Given the description of an element on the screen output the (x, y) to click on. 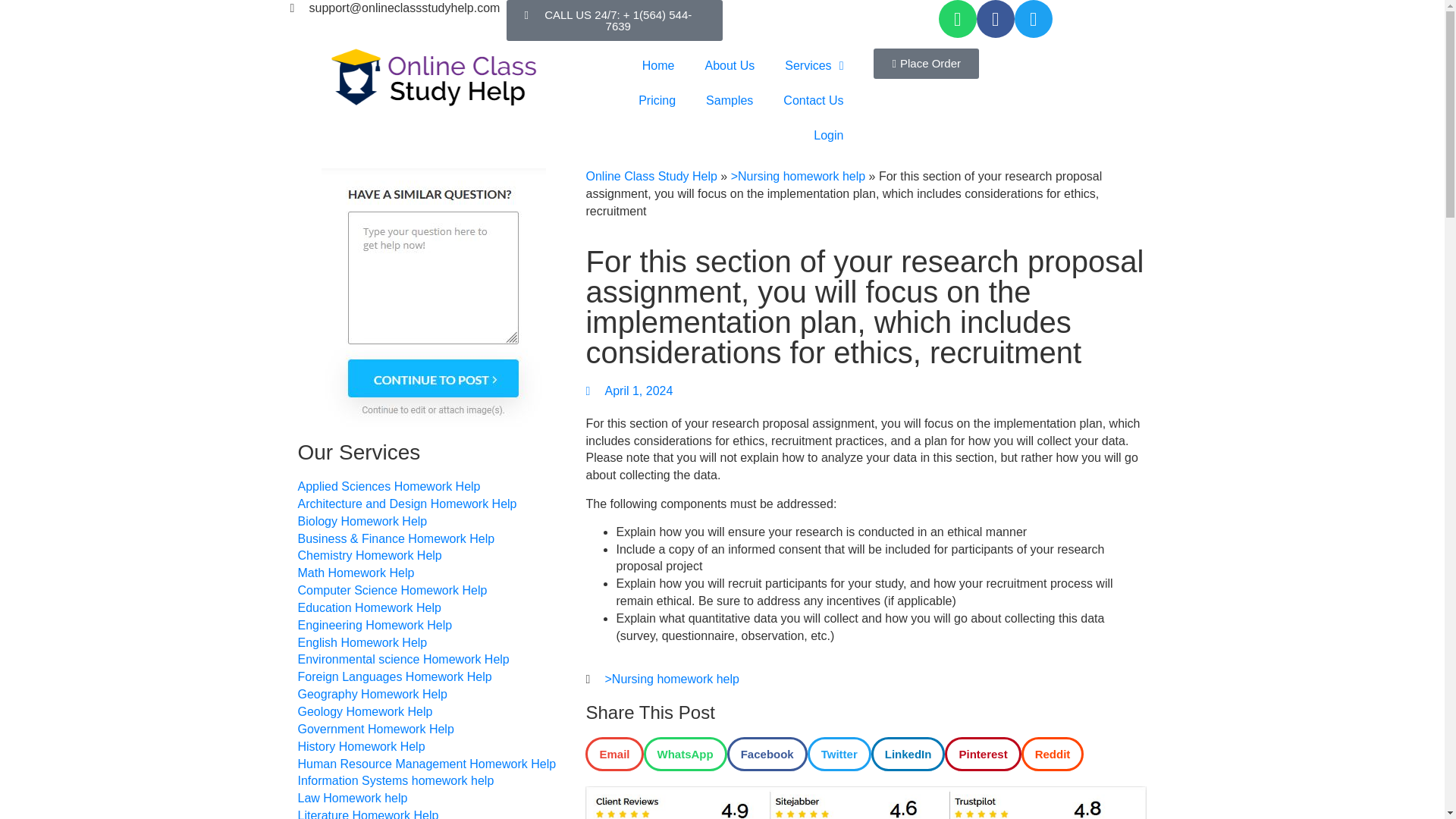
Services (814, 65)
English Homework Help (361, 642)
Home (658, 65)
Pricing (656, 100)
Place Order (925, 63)
Applied Sciences Homework Help (388, 487)
Chemistry Homework Help (369, 556)
Engineering Homework Help (374, 625)
Architecture and Design Homework Help (406, 504)
Contact Us (813, 100)
About Us (729, 65)
Samples (729, 100)
Biology Homework Help (361, 521)
Computer Science Homework Help (391, 590)
Login (828, 135)
